Given the description of an element on the screen output the (x, y) to click on. 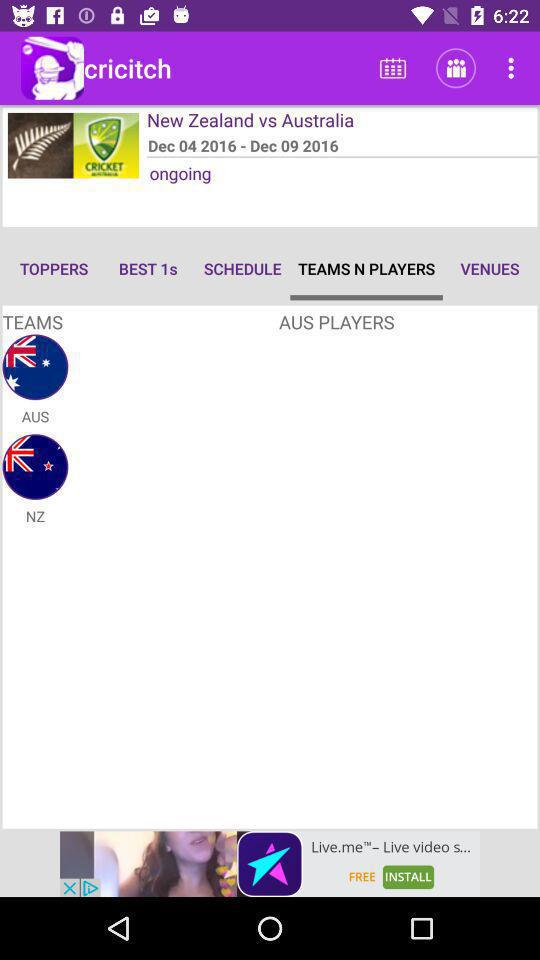
install app (270, 864)
